Given the description of an element on the screen output the (x, y) to click on. 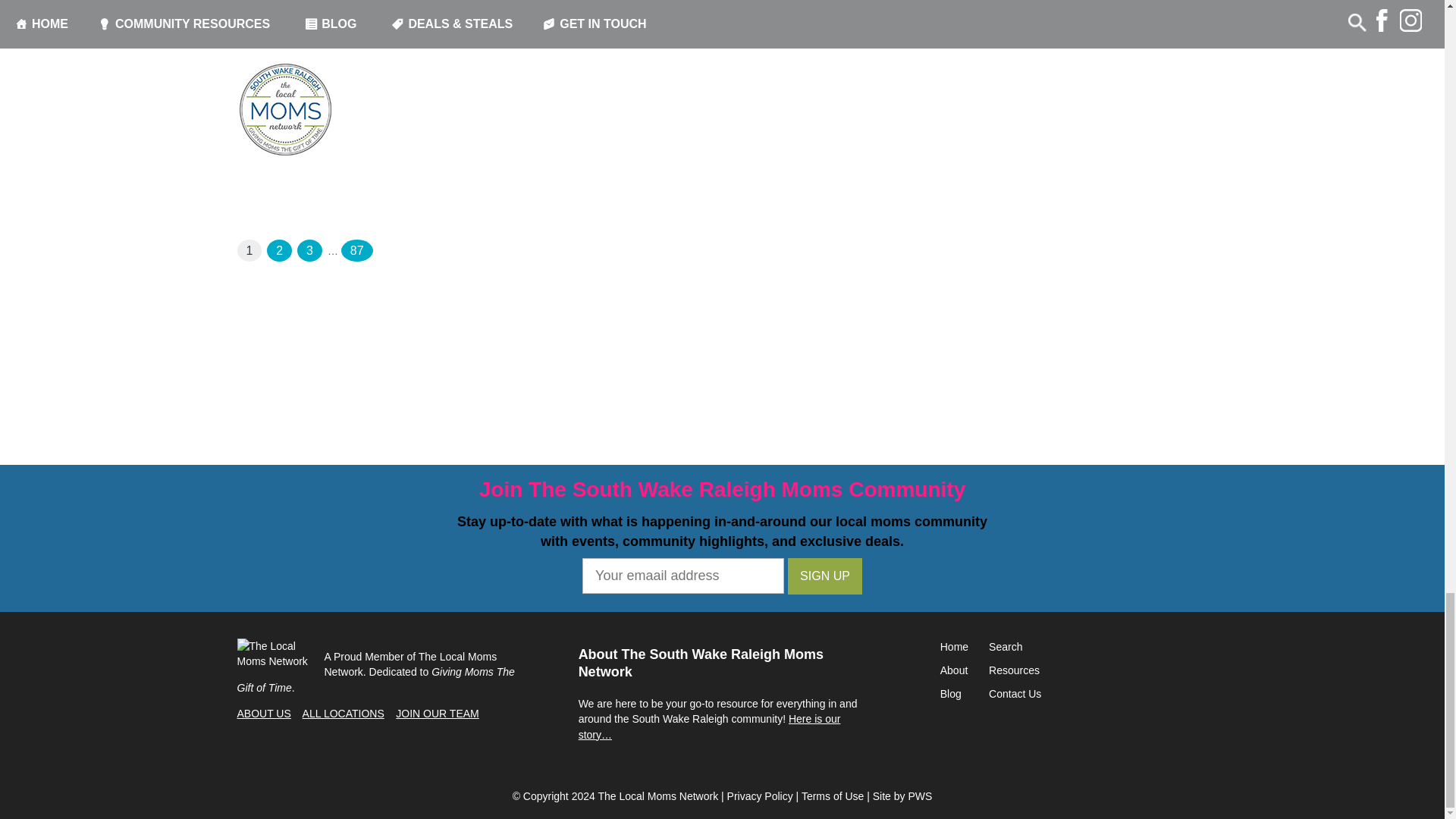
Sign up (824, 575)
